Given the description of an element on the screen output the (x, y) to click on. 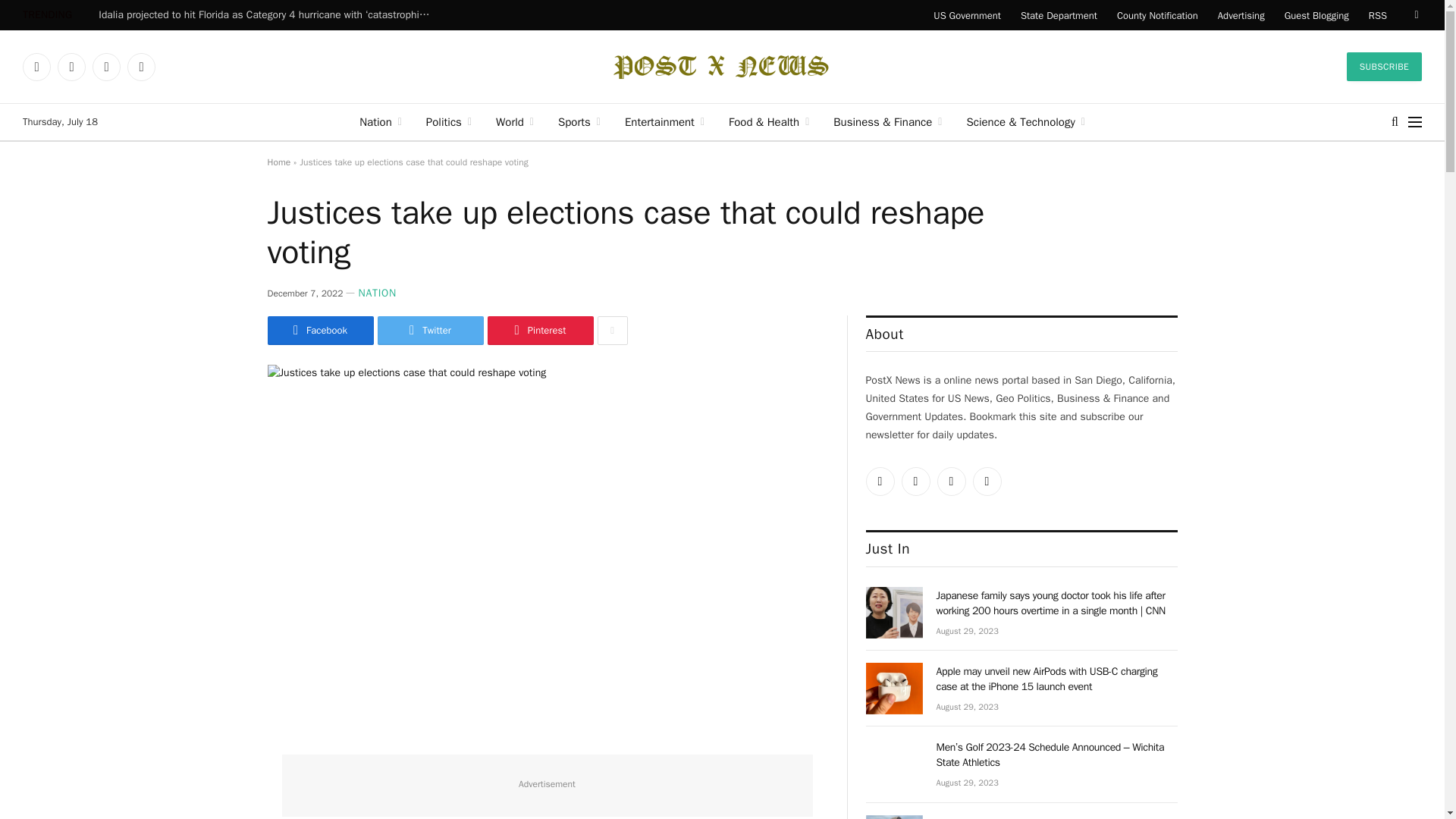
Facebook (71, 67)
Advertising (1241, 15)
Instagram (106, 67)
RSS (141, 67)
County Notification (1157, 15)
SUBSCRIBE (1384, 66)
Guest Blogging (1316, 15)
Twitter (36, 67)
Nation (380, 122)
Switch to Dark Design - easier on eyes. (1414, 14)
RSS (1377, 15)
PostX News (721, 66)
US Government (966, 15)
State Department (1058, 15)
